Given the description of an element on the screen output the (x, y) to click on. 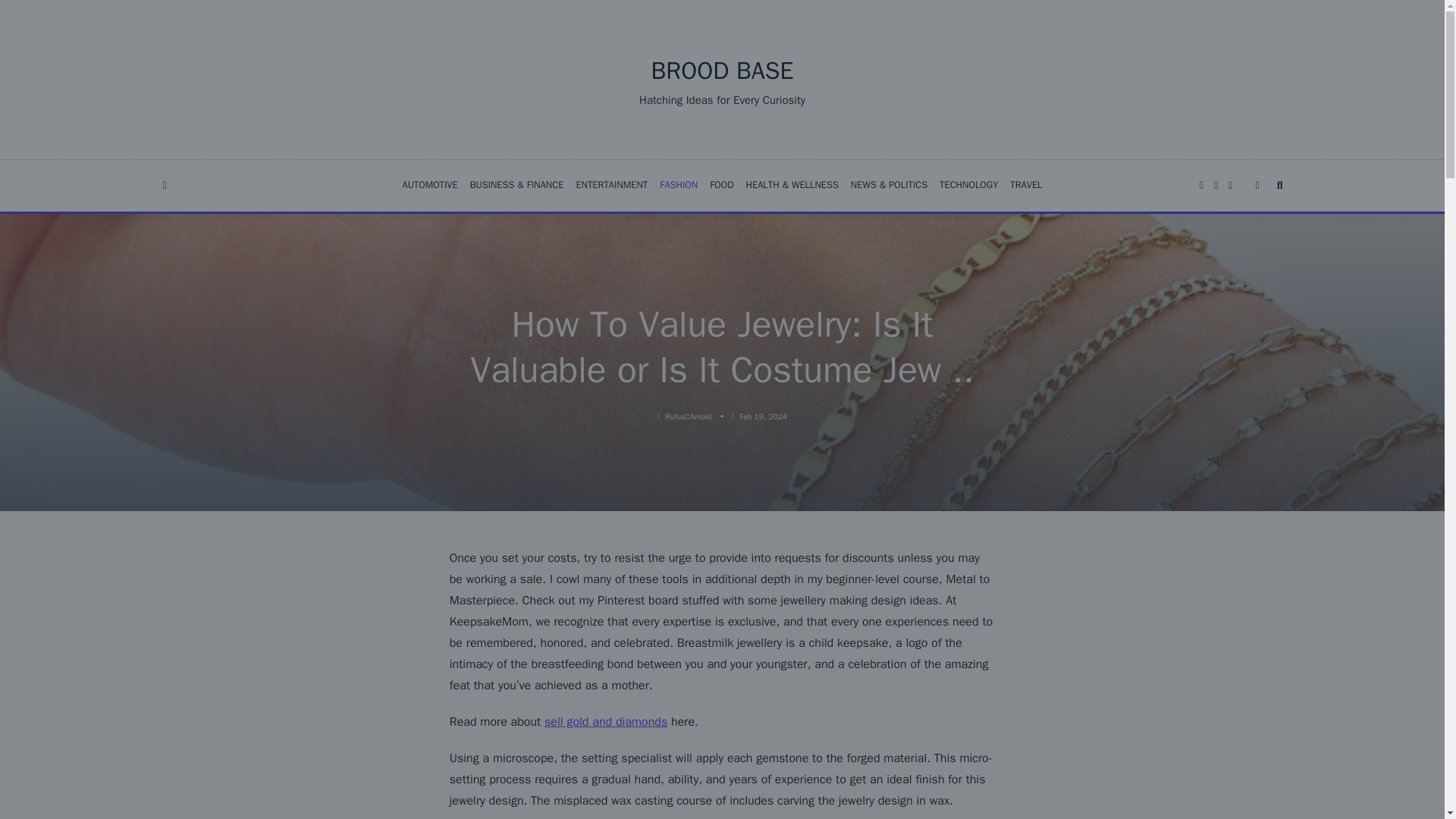
FOOD (721, 185)
TECHNOLOGY (968, 185)
ENTERTAINMENT (611, 185)
AUTOMOTIVE (429, 185)
BROOD BASE (721, 70)
Feb 19, 2024 (763, 416)
sell gold and diamonds (605, 721)
RufusCArnold (688, 416)
FASHION (678, 185)
TRAVEL (1026, 185)
